Given the description of an element on the screen output the (x, y) to click on. 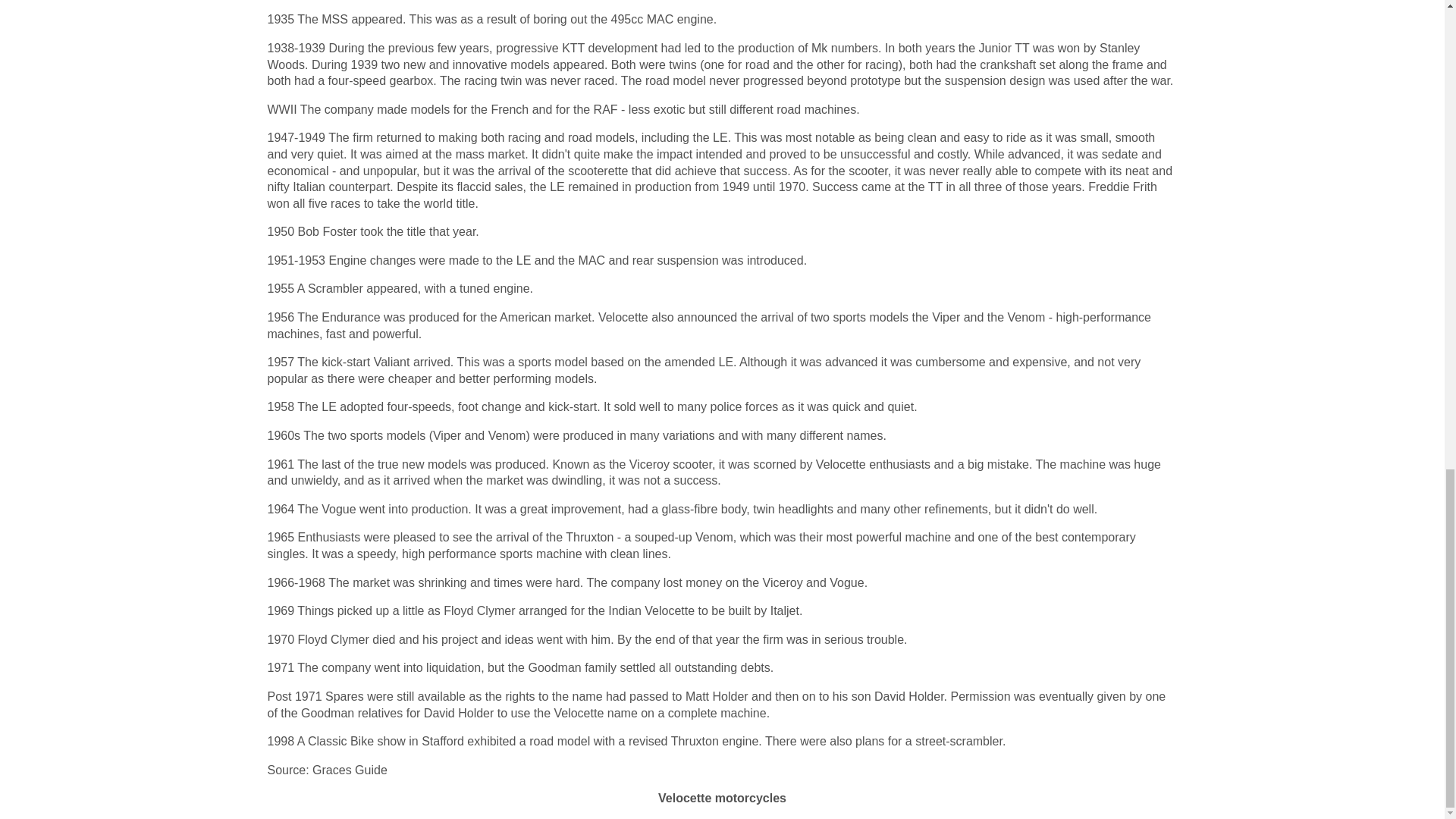
To Velocette motorcycles (722, 797)
Graces Guide (350, 769)
Velocette motorcycles (722, 797)
